Given the description of an element on the screen output the (x, y) to click on. 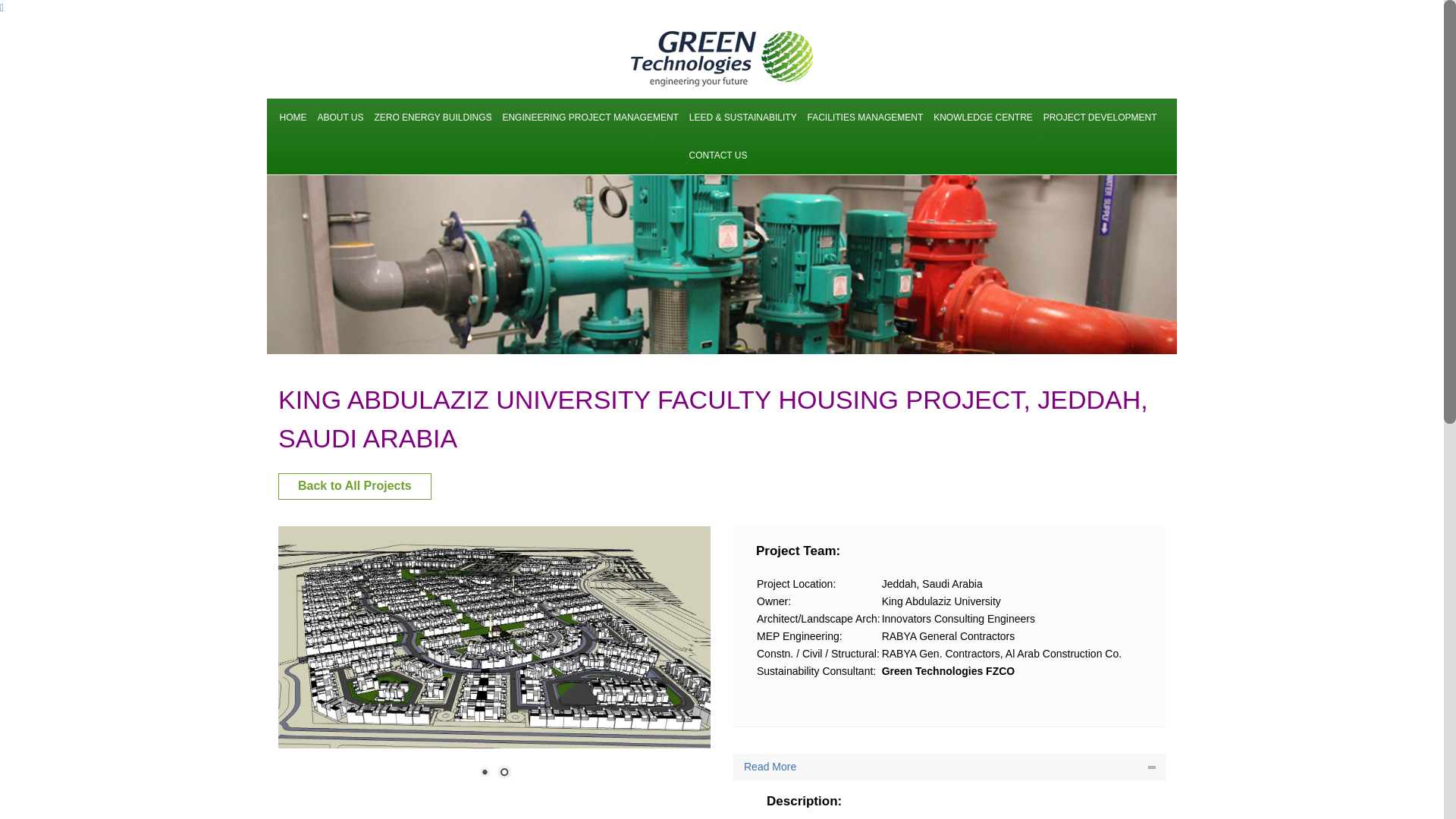
2 (504, 773)
FACILITIES MANAGEMENT (865, 117)
ABOUT US (339, 117)
PROJECT DEVELOPMENT (1100, 117)
KNOWLEDGE CENTRE (982, 117)
CONTACT US (718, 155)
1 (484, 773)
Back to All Projects (354, 486)
ZERO ENERGY BUILDINGS (433, 117)
Read More (949, 766)
ENGINEERING PROJECT MANAGEMENT (590, 117)
